Given the description of an element on the screen output the (x, y) to click on. 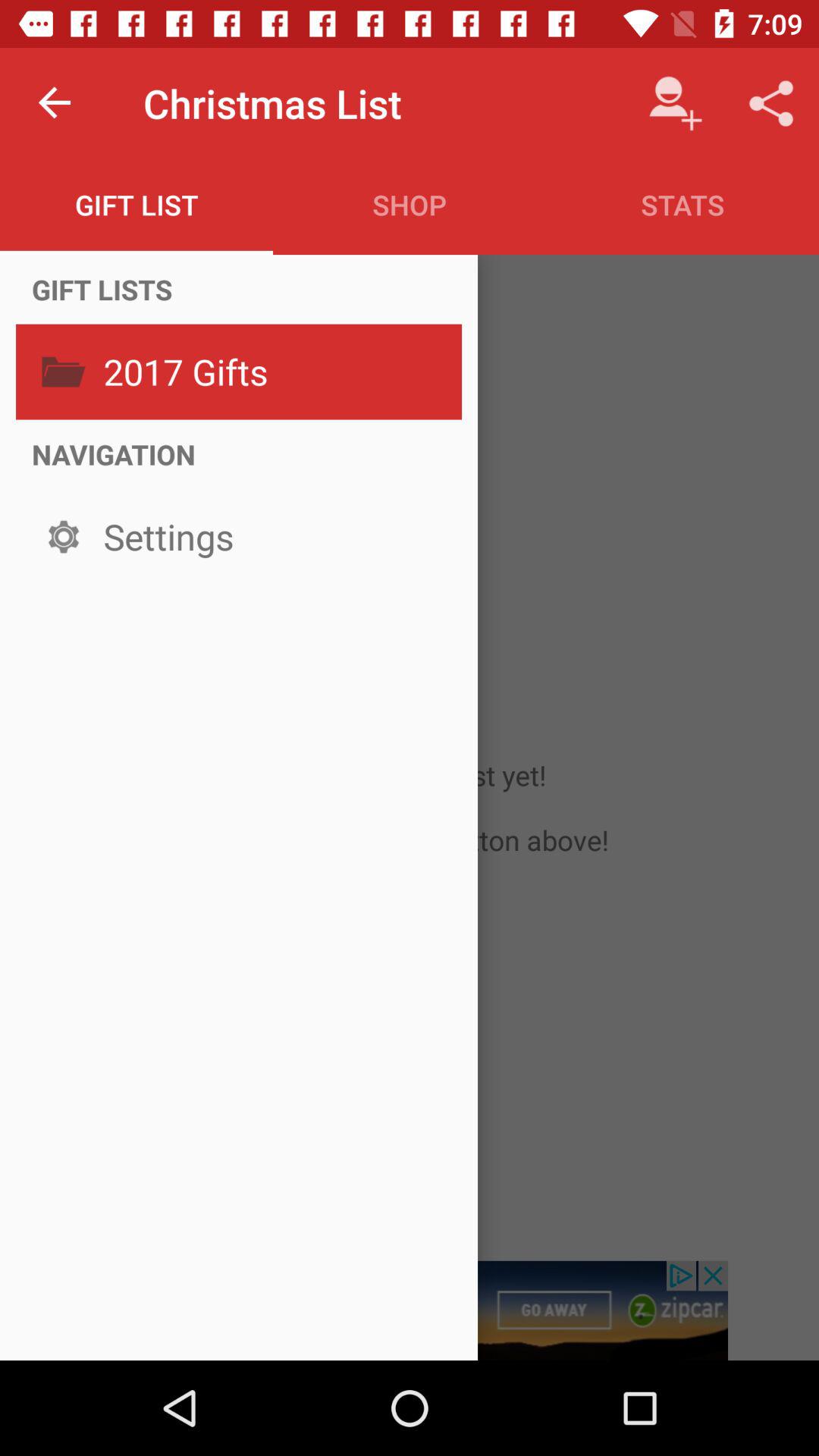
choose the item above 2017 gifts icon (101, 289)
